Given the description of an element on the screen output the (x, y) to click on. 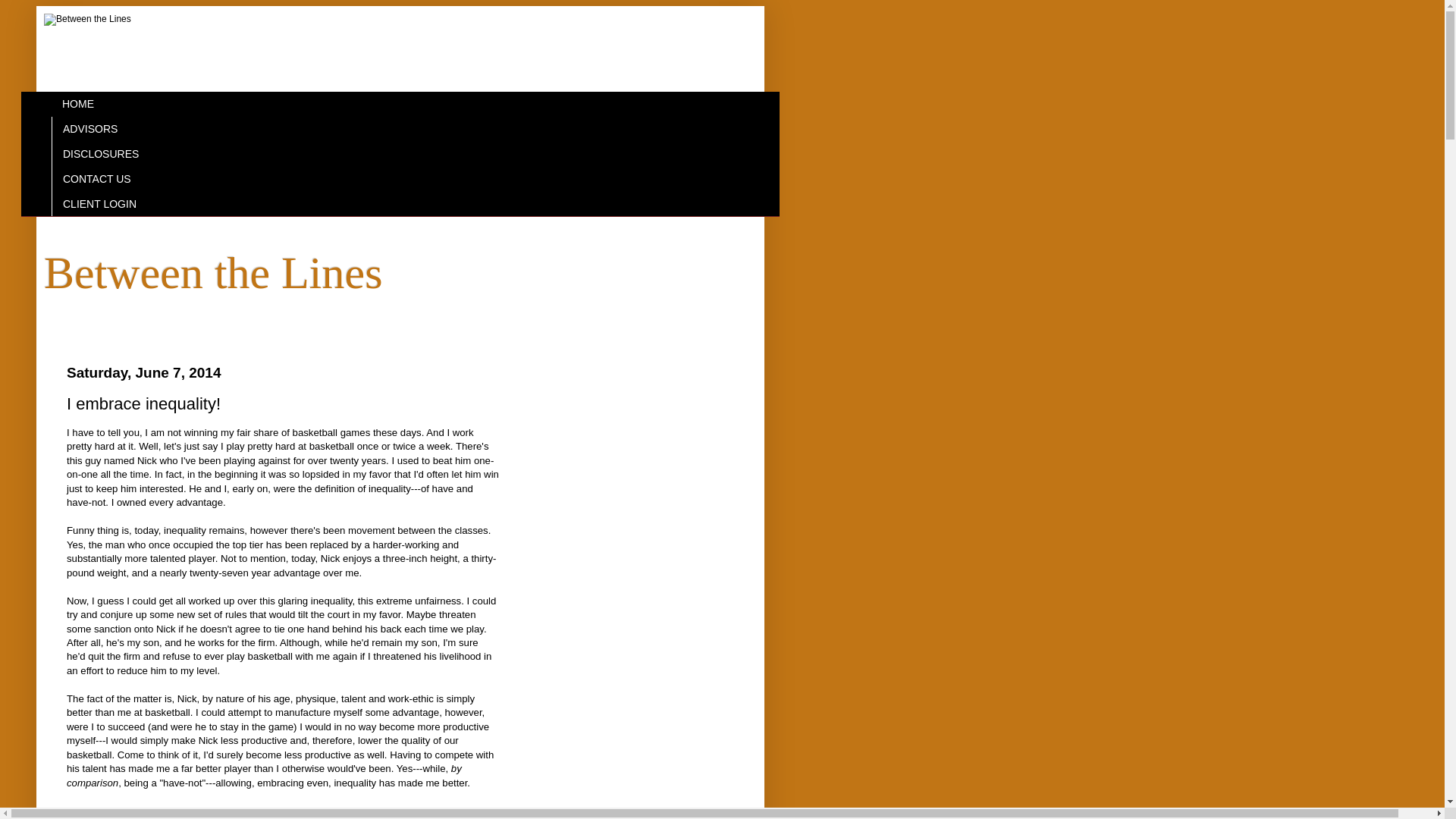
ADVISORS (89, 129)
CONTACT US (95, 178)
HOME (77, 104)
DISCLOSURES (99, 154)
Between the Lines (212, 273)
CLIENT LOGIN (98, 203)
